Given the description of an element on the screen output the (x, y) to click on. 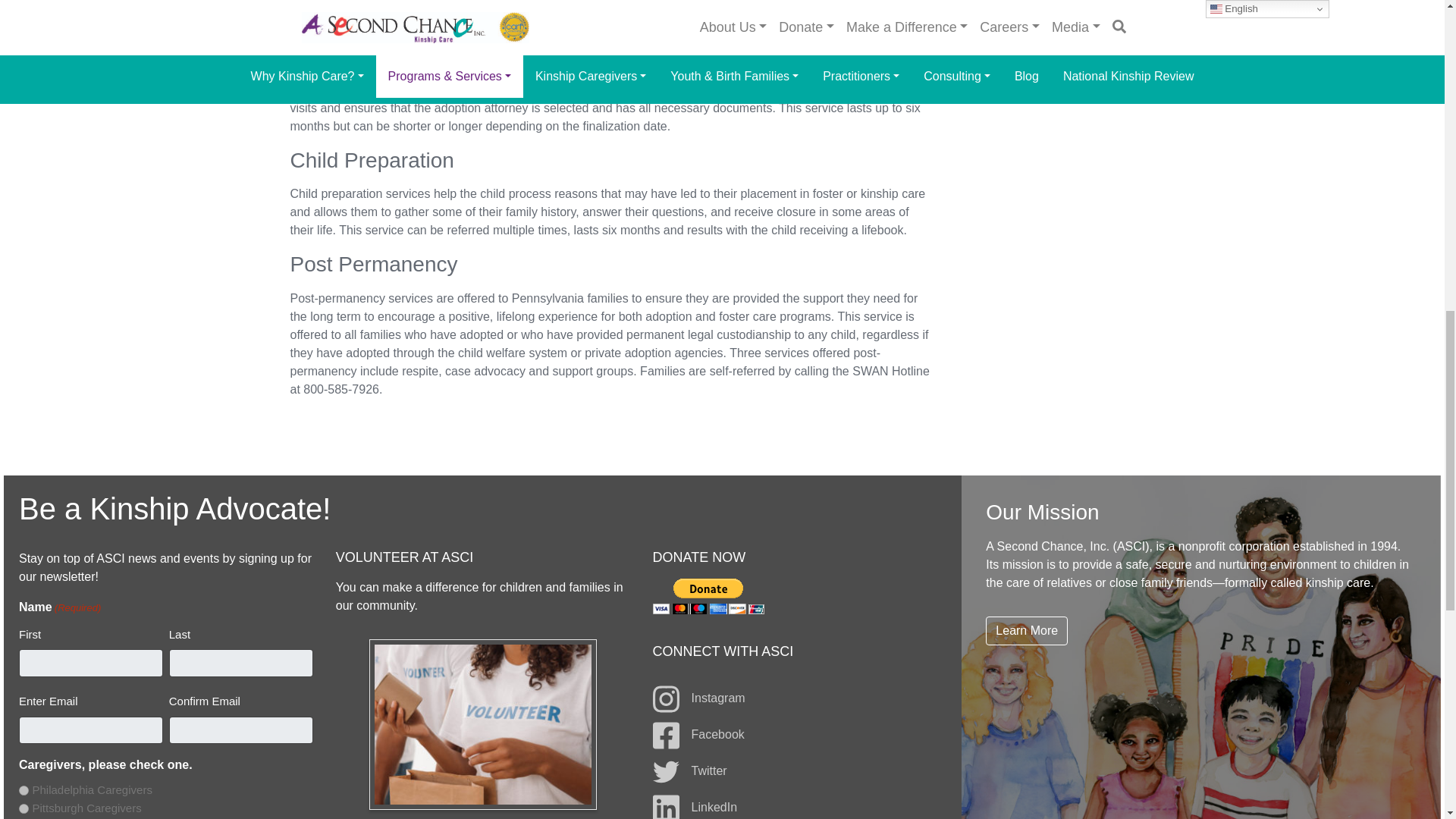
Pittsburgh Caregivers (23, 808)
Philadelphia Caregivers (23, 790)
